Given the description of an element on the screen output the (x, y) to click on. 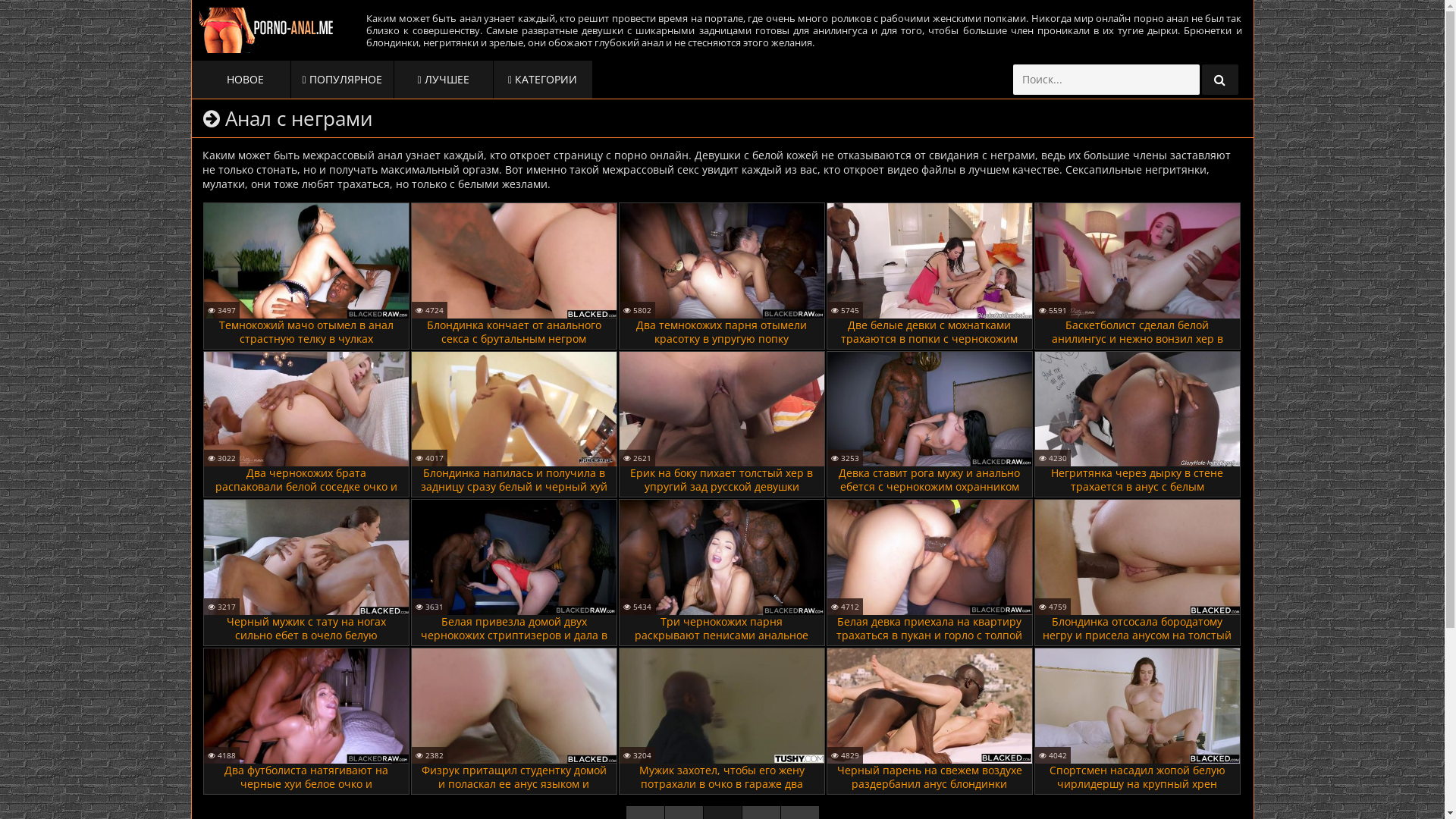
Find Element type: hover (1219, 79)
